Given the description of an element on the screen output the (x, y) to click on. 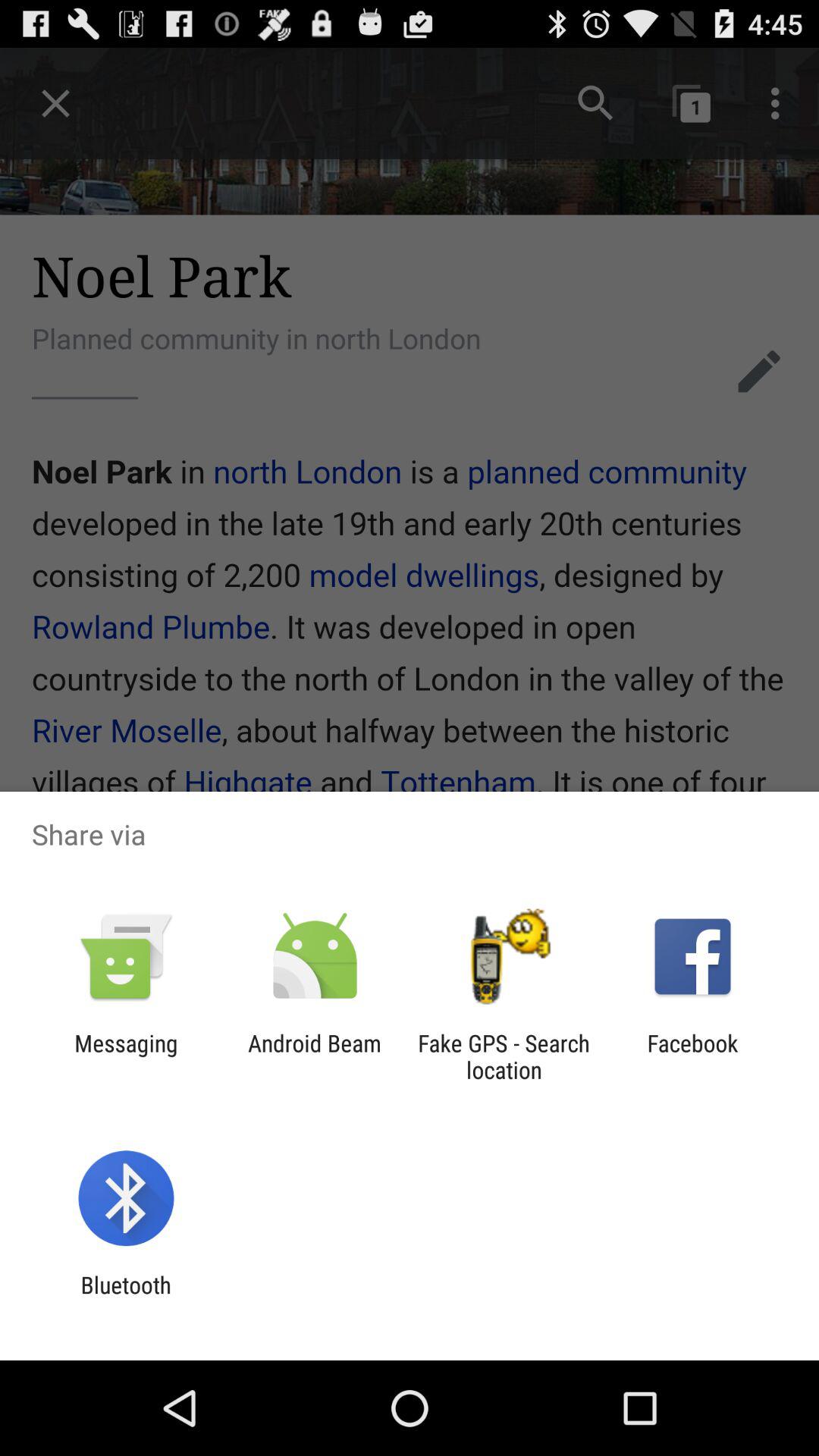
swipe to the fake gps search item (503, 1056)
